Given the description of an element on the screen output the (x, y) to click on. 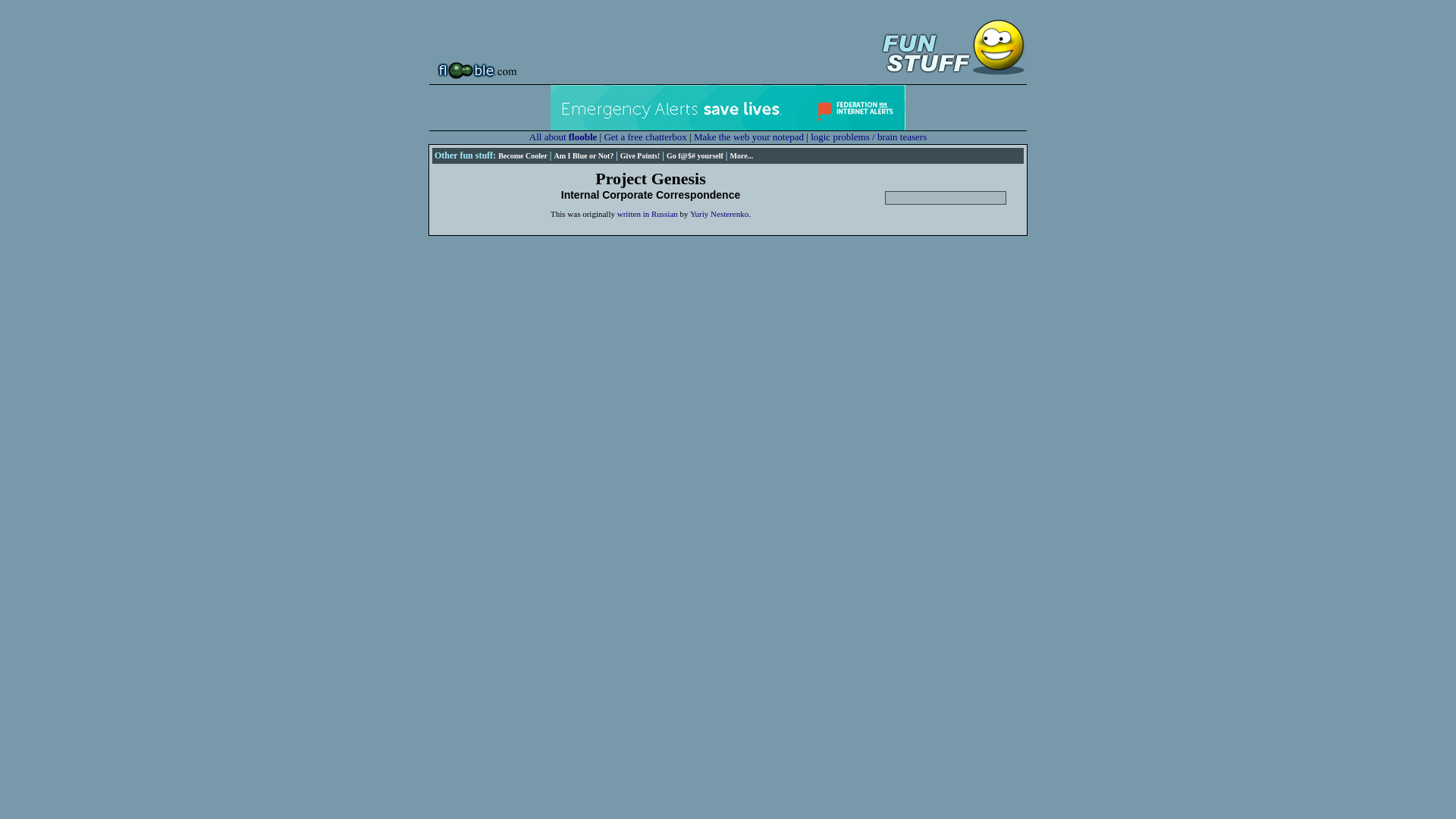
Make the web your notepad (748, 136)
More... (742, 155)
Yuriy Nesterenko (719, 213)
Get a free chatterbox (644, 136)
Become Cooler (522, 155)
Give Points! (640, 155)
All about flooble (562, 136)
Am I Blue or Not? (582, 155)
Fun Stuff (950, 44)
written in Russian (647, 213)
